Given the description of an element on the screen output the (x, y) to click on. 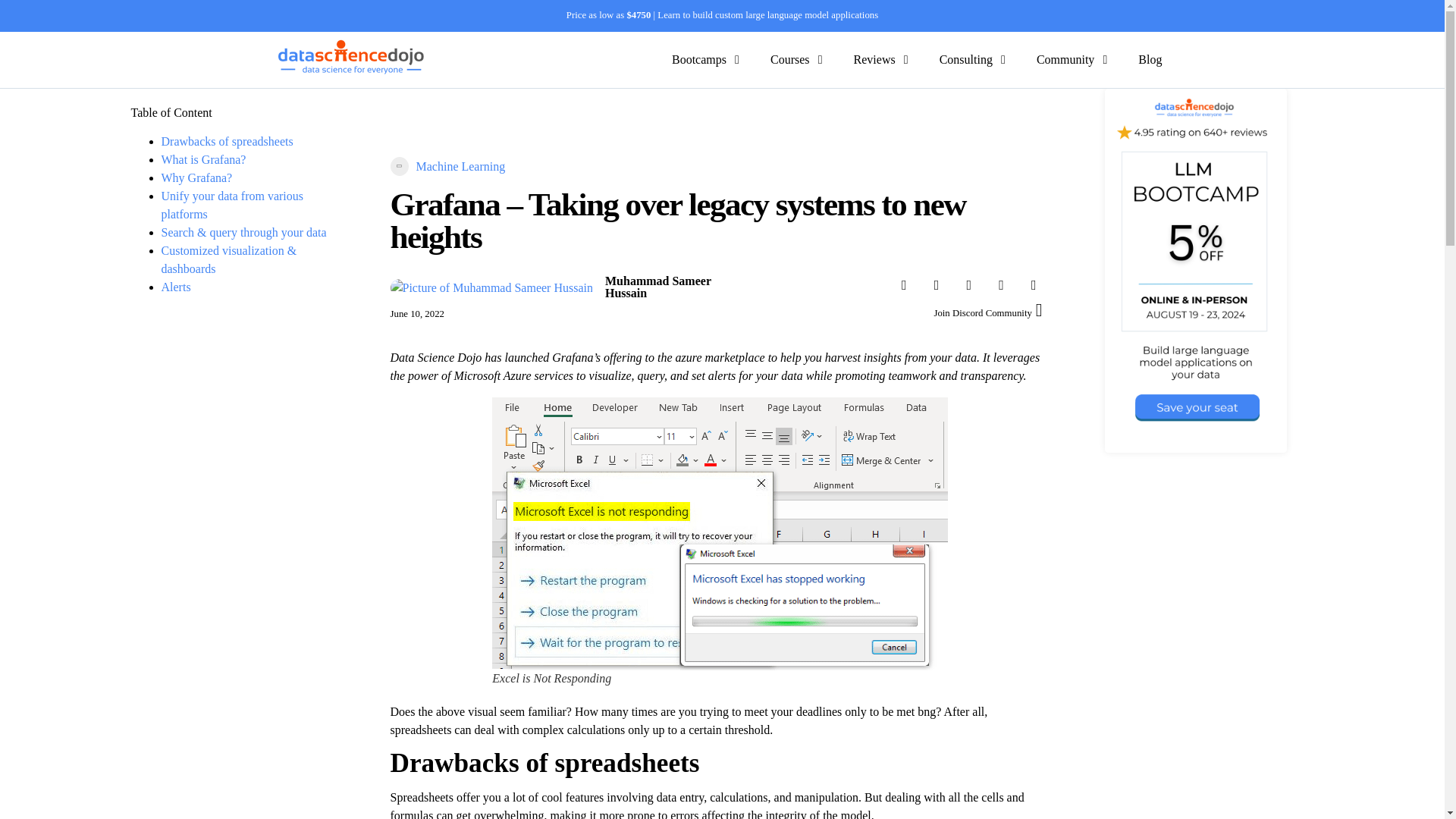
Blog (1149, 59)
What is Grafana? (203, 159)
Bootcamps (698, 59)
Unify your data from various platforms (231, 204)
Drawbacks of spreadsheets (226, 141)
Community (1065, 59)
Courses (789, 59)
Consulting (965, 59)
Alerts (175, 286)
Drawbacks of spreadsheets (226, 141)
